Given the description of an element on the screen output the (x, y) to click on. 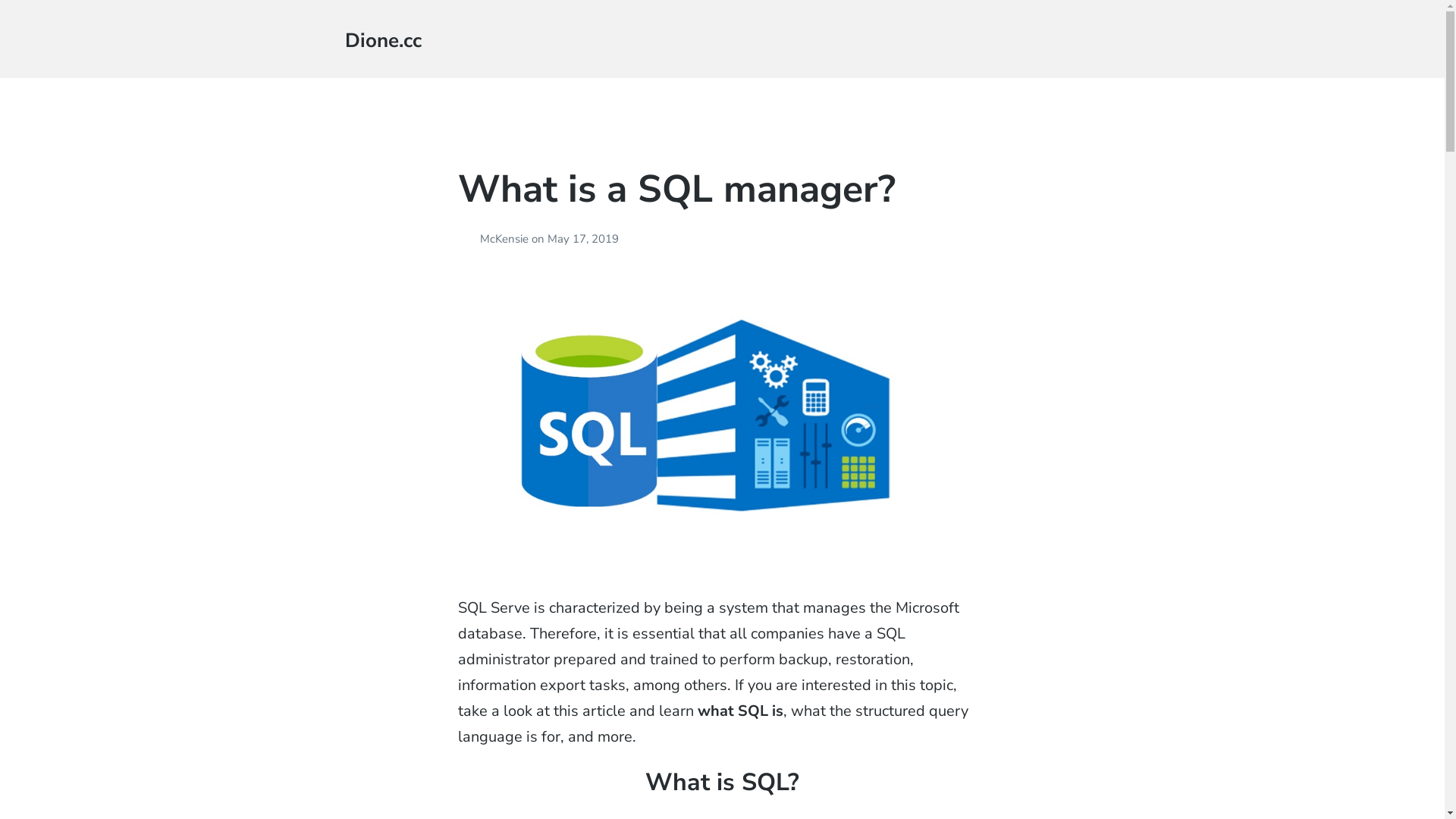
Dione.cc Element type: text (383, 40)
Posts by McKensie Element type: hover (469, 238)
McKensie Element type: text (505, 238)
